Given the description of an element on the screen output the (x, y) to click on. 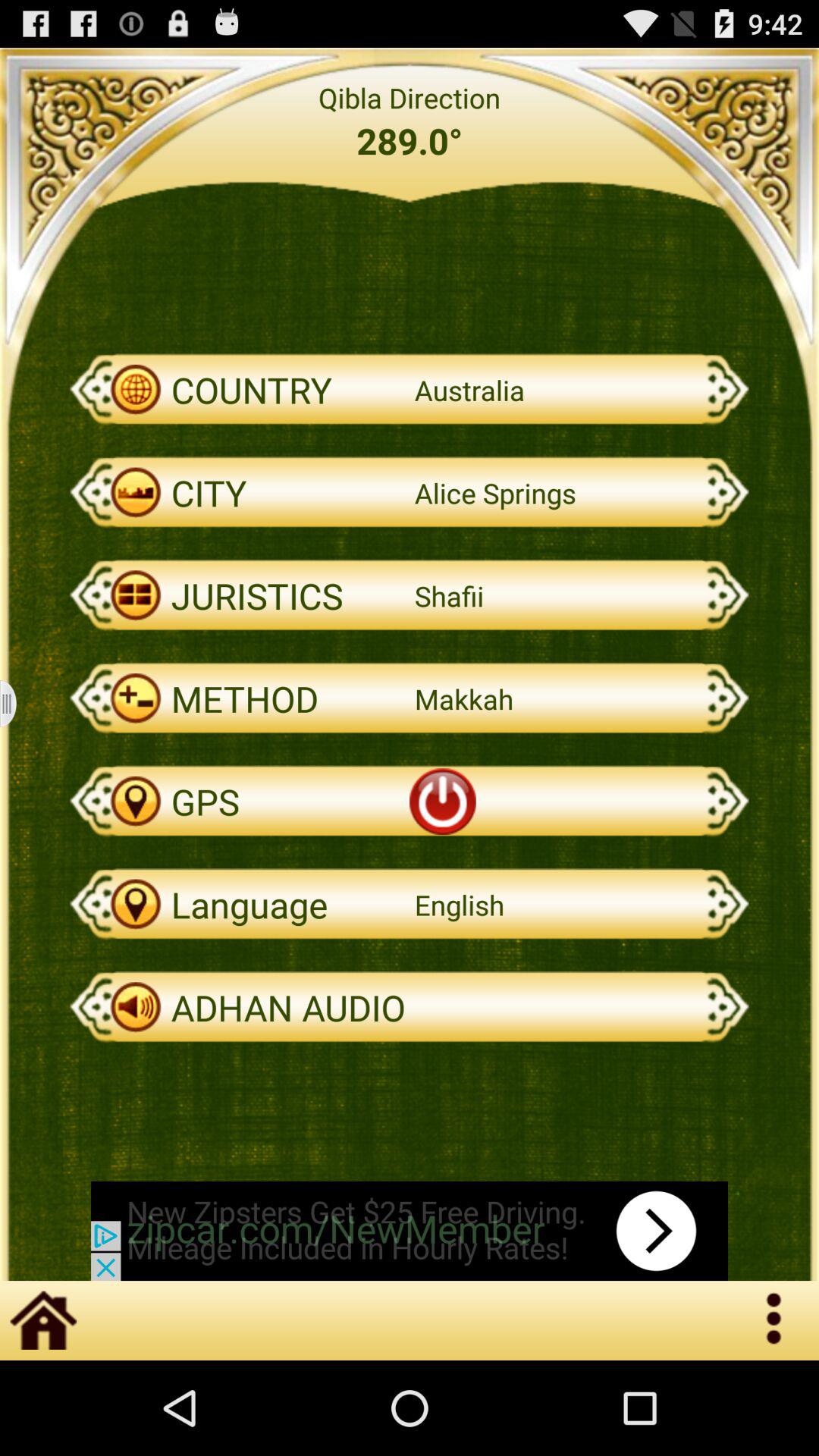
go to advertisements website (409, 1230)
